Given the description of an element on the screen output the (x, y) to click on. 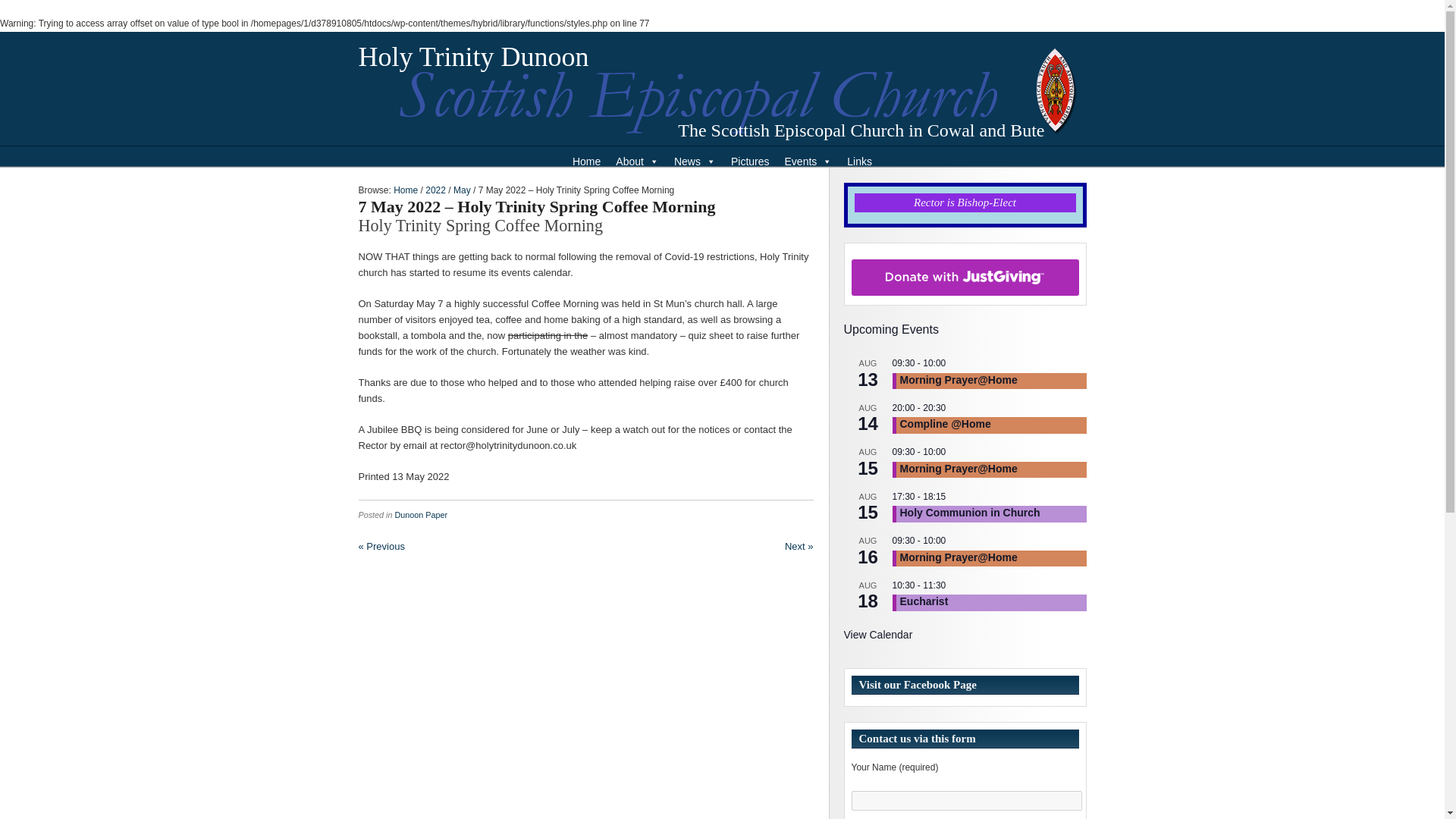
2022 (435, 190)
Eucharist (923, 601)
Home (405, 190)
Holy Trinity Dunoon (473, 56)
Pictures (750, 161)
Holy Communion in Church (969, 512)
View more events. (877, 634)
Holy Trinity Dunoon (473, 56)
Dunoon Paper (421, 514)
Home (586, 161)
